Given the description of an element on the screen output the (x, y) to click on. 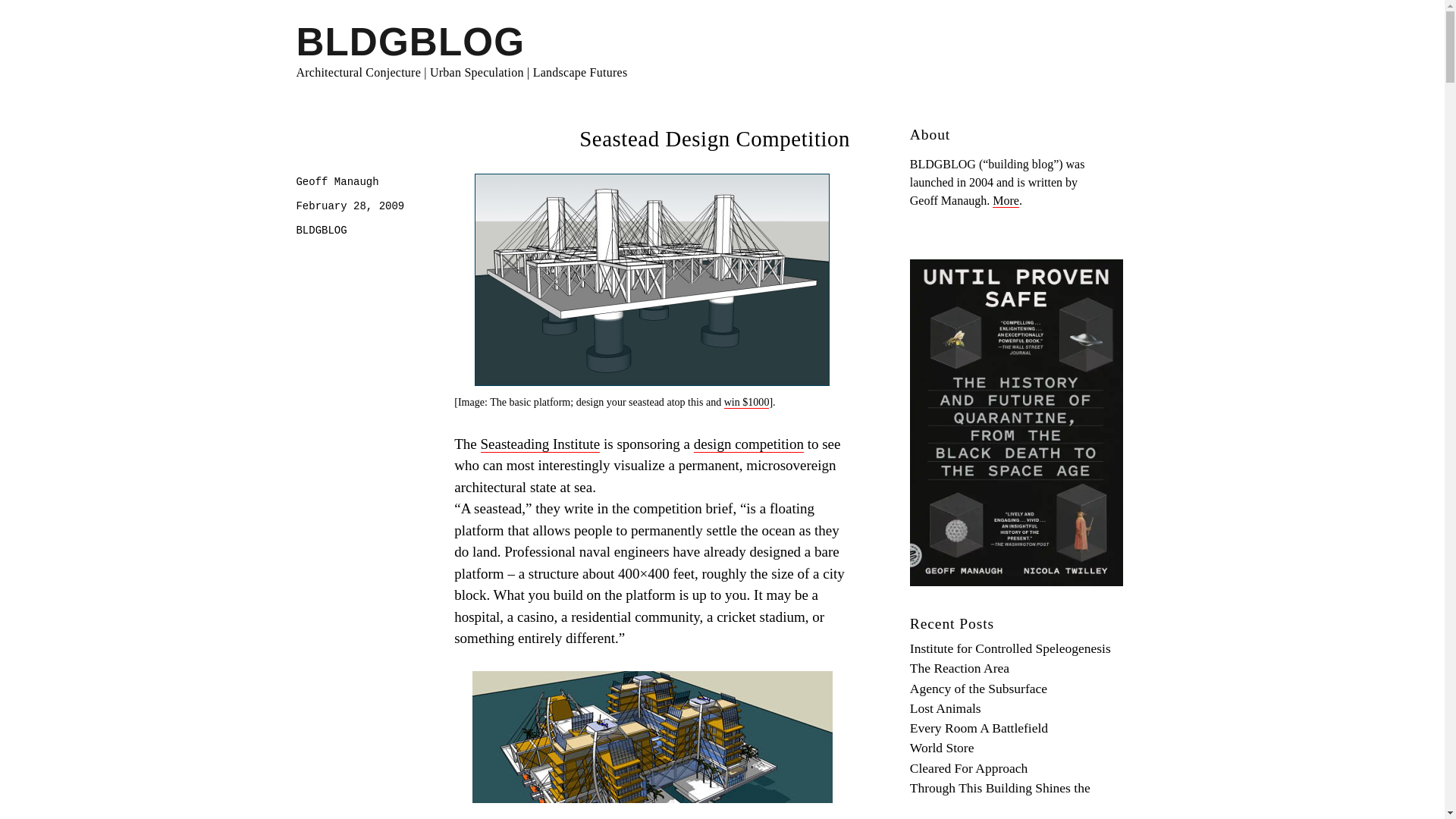
February 28, 2009 (349, 205)
Seasteading Institute (539, 443)
Geoff Manaugh (336, 182)
design competition (748, 443)
BLDGBLOG (409, 41)
BLDGBLOG (320, 230)
